Given the description of an element on the screen output the (x, y) to click on. 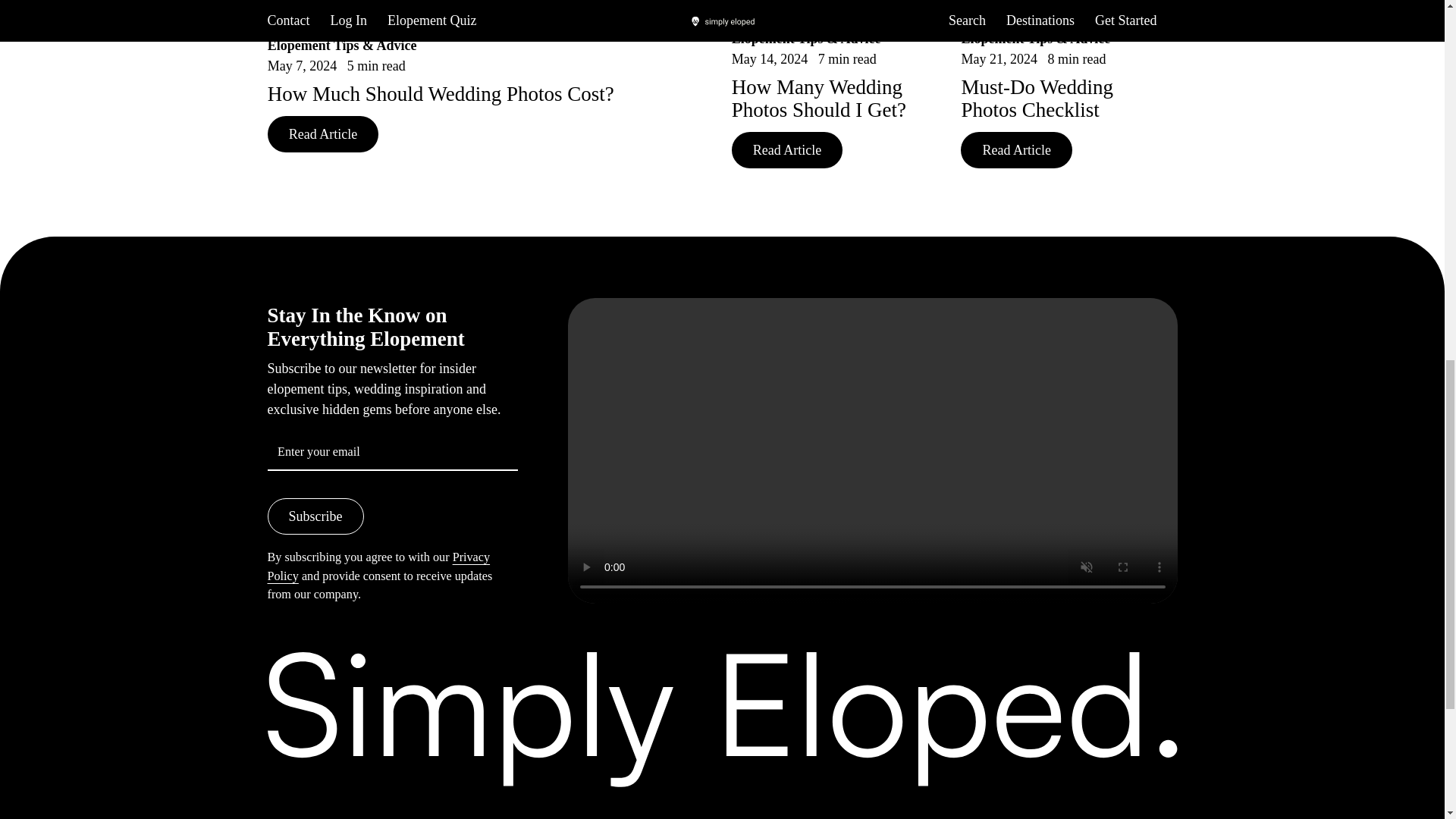
Read Article (787, 149)
Privacy Policy (377, 566)
Subscribe (314, 515)
Subscribe (314, 515)
Read Article (1015, 149)
Read Article (322, 134)
